Given the description of an element on the screen output the (x, y) to click on. 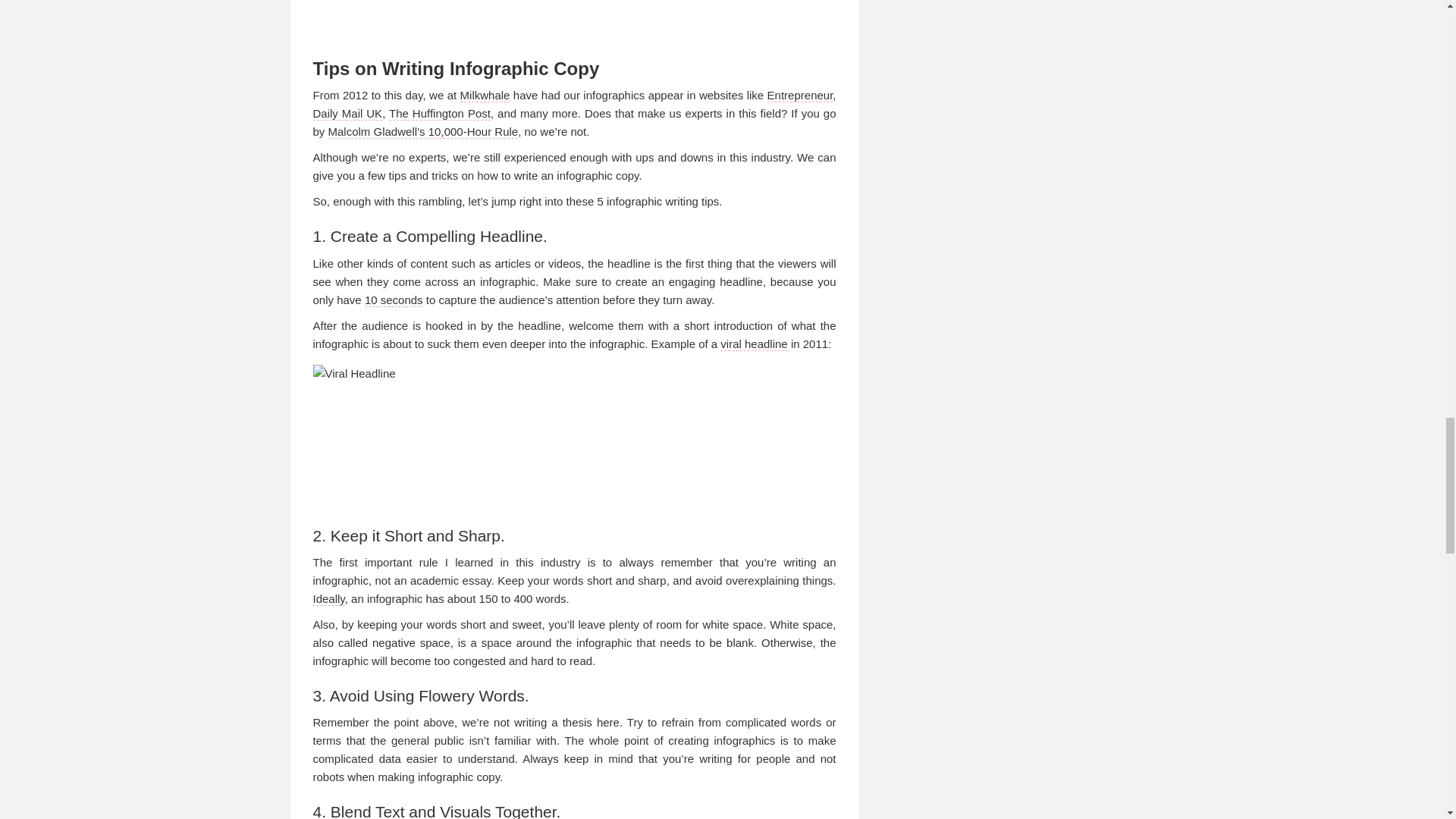
10 seconds (394, 300)
The Huffington Post (439, 113)
Milkwhale (485, 95)
Entrepreneur (799, 95)
viral headline (753, 344)
Daily Mail UK (347, 113)
Ideally (328, 599)
